Given the description of an element on the screen output the (x, y) to click on. 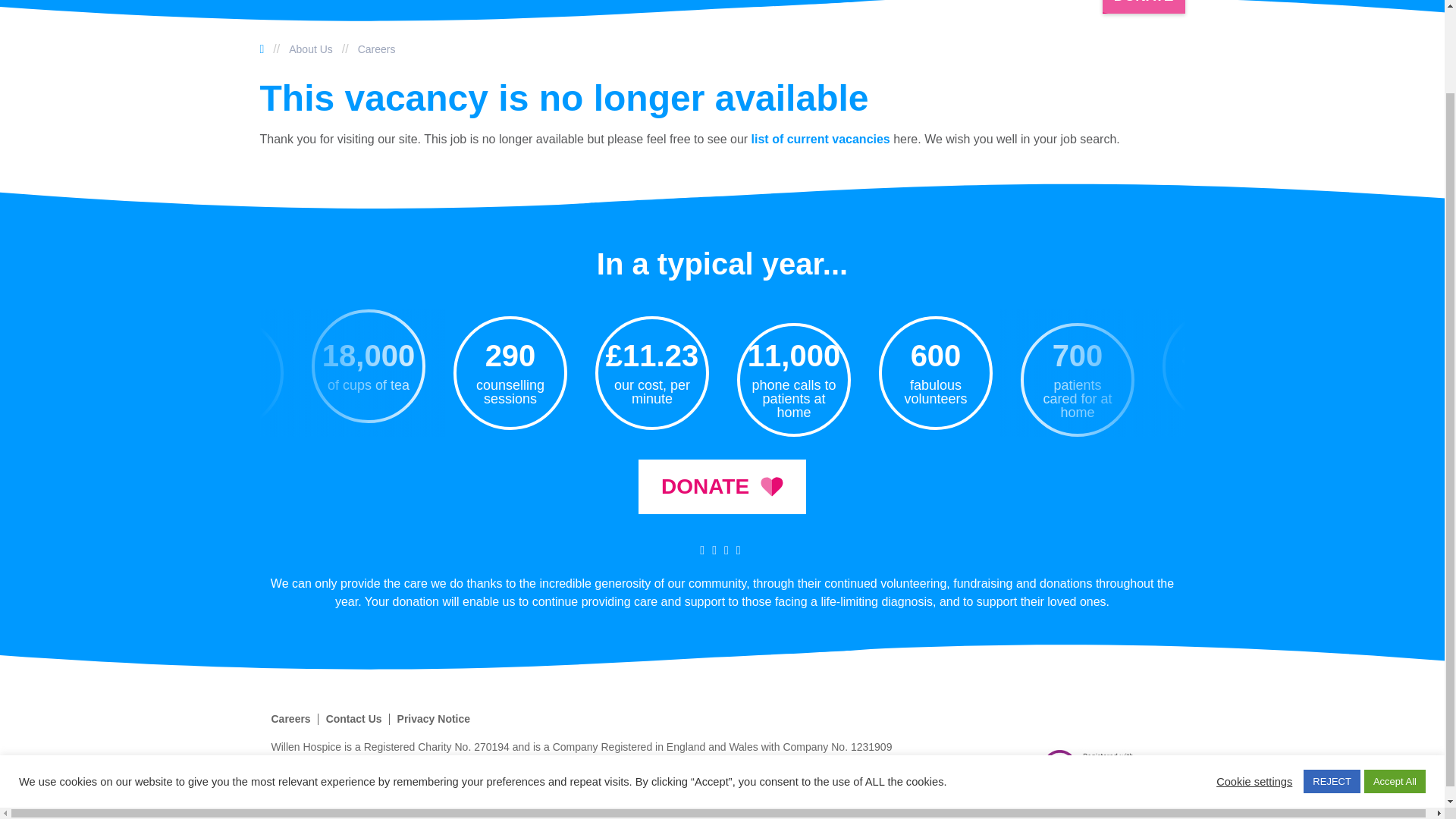
About Us (310, 48)
DONATE (1143, 6)
Fundraising Regulator (1099, 767)
Donate (722, 486)
Careers (377, 48)
